Given the description of an element on the screen output the (x, y) to click on. 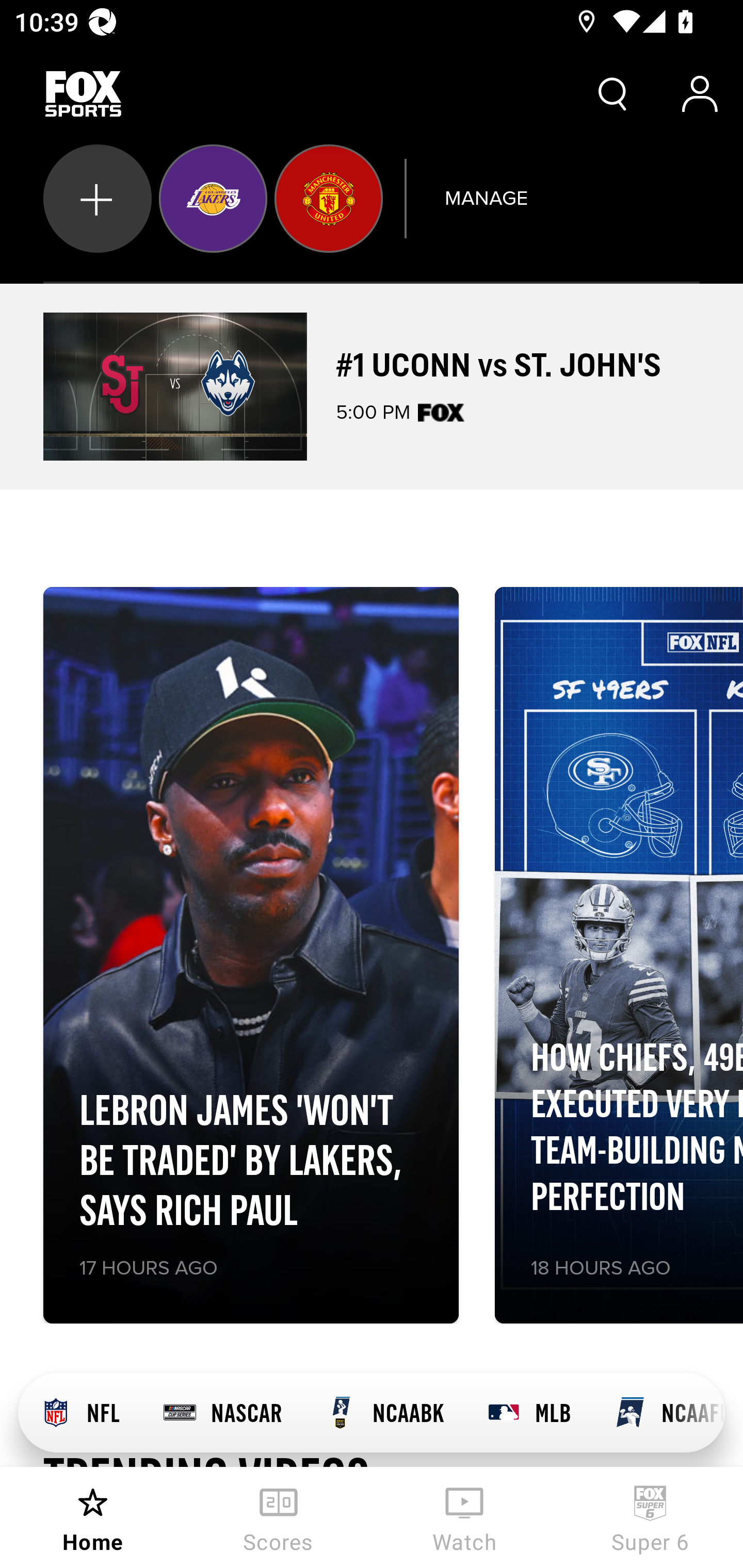
Search (612, 93)
Account (699, 93)
MANAGE (485, 198)
#1 UCONN vs ST. JOHN'S 5:00 PM (371, 386)
NFL (79, 1412)
NASCAR (222, 1412)
NCAABK (384, 1412)
MLB (528, 1412)
NCAAFB (658, 1412)
Scores (278, 1517)
Watch (464, 1517)
Super 6 (650, 1517)
